Given the description of an element on the screen output the (x, y) to click on. 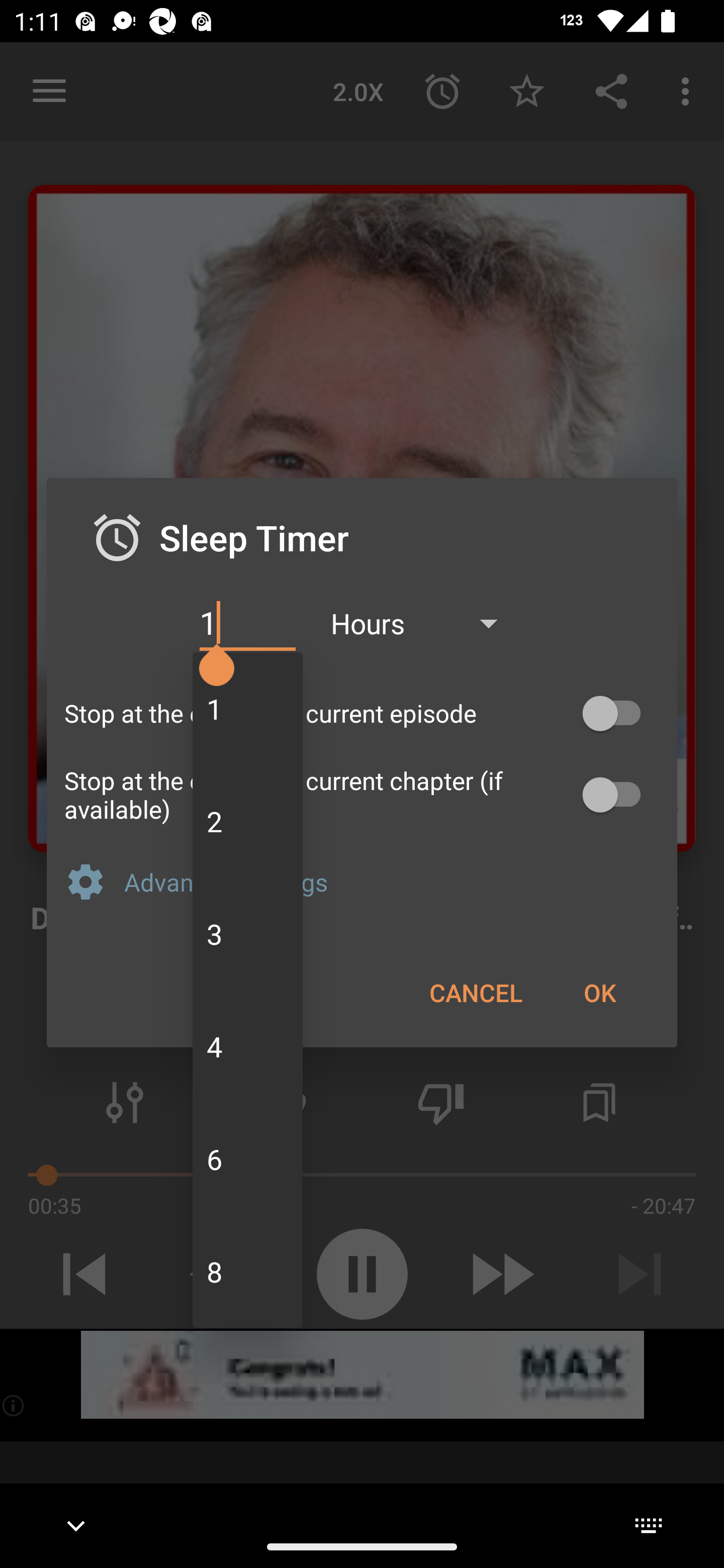
1 (247, 623)
Hours (423, 623)
Stop at the end of the current episode (361, 712)
Advanced settings (391, 881)
CANCEL (475, 992)
OK (599, 992)
